Given the description of an element on the screen output the (x, y) to click on. 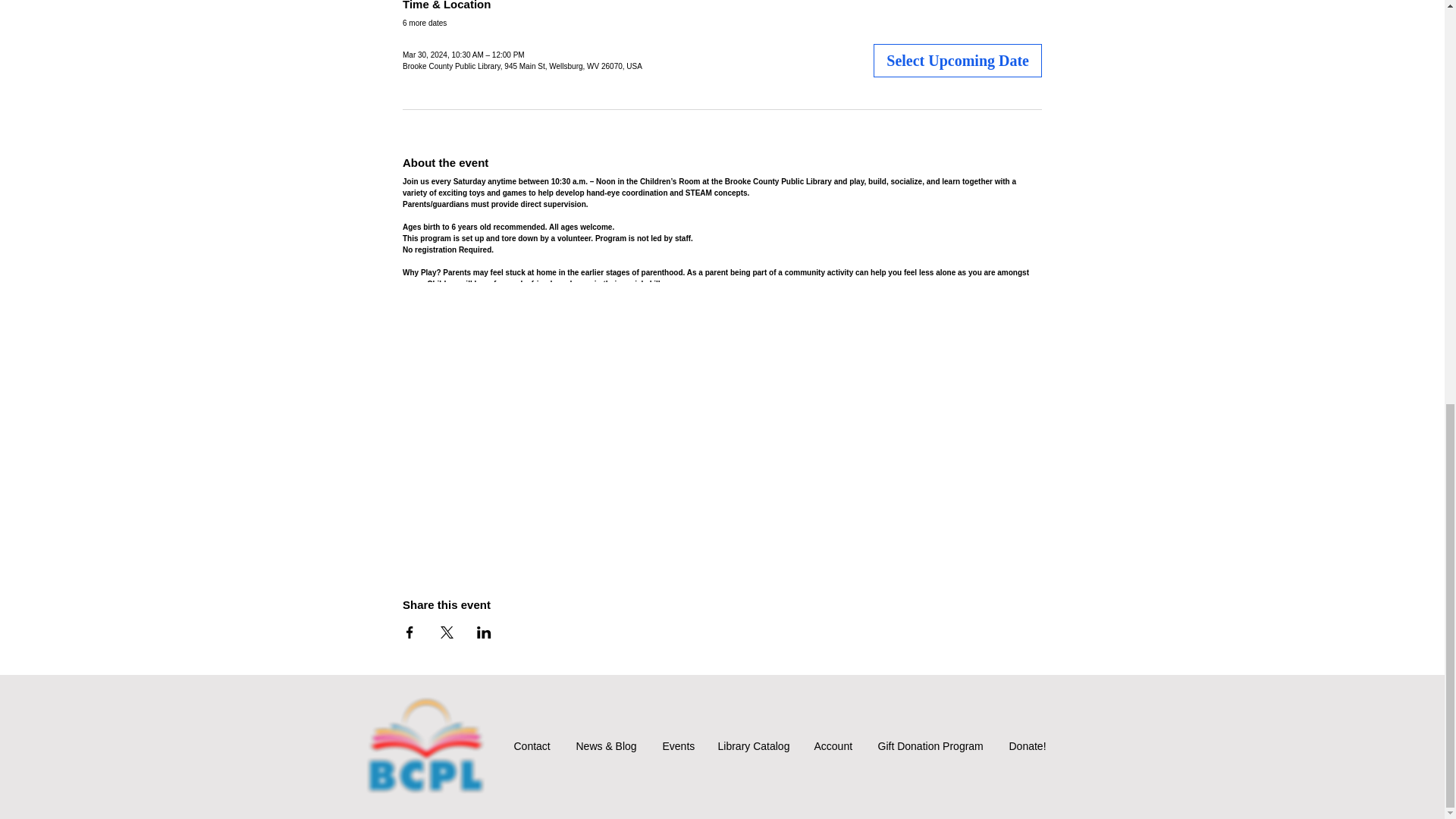
Contact (533, 746)
Select Upcoming Date (957, 60)
